Given the description of an element on the screen output the (x, y) to click on. 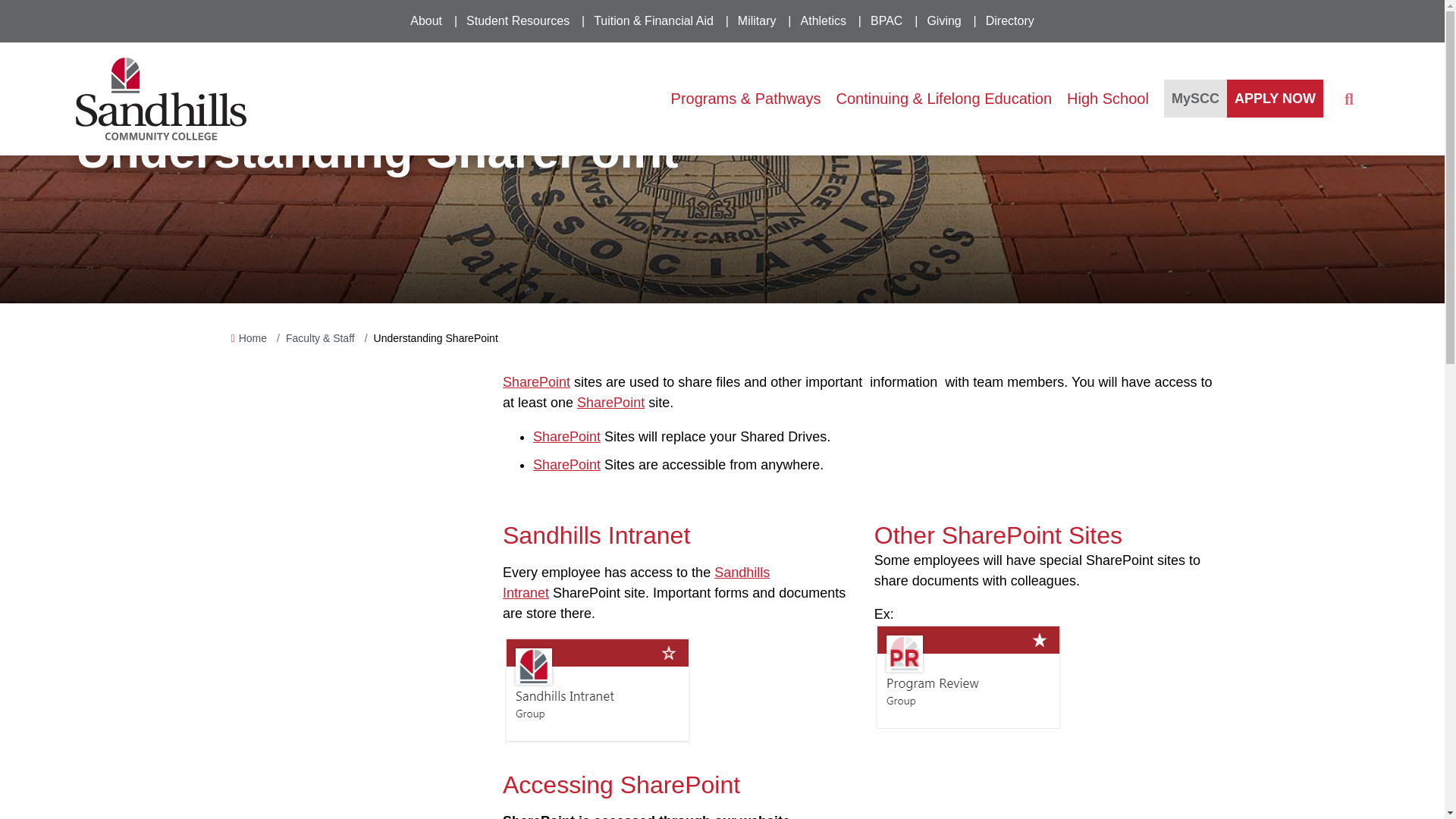
Directory (1010, 21)
Sandhills Intranet (636, 582)
MySCC (1195, 99)
High School (1107, 98)
Home (252, 337)
APPLY NOW (1275, 99)
SharePoint (565, 436)
SharePoint (565, 464)
Student Resources (517, 21)
Military (757, 21)
